Given the description of an element on the screen output the (x, y) to click on. 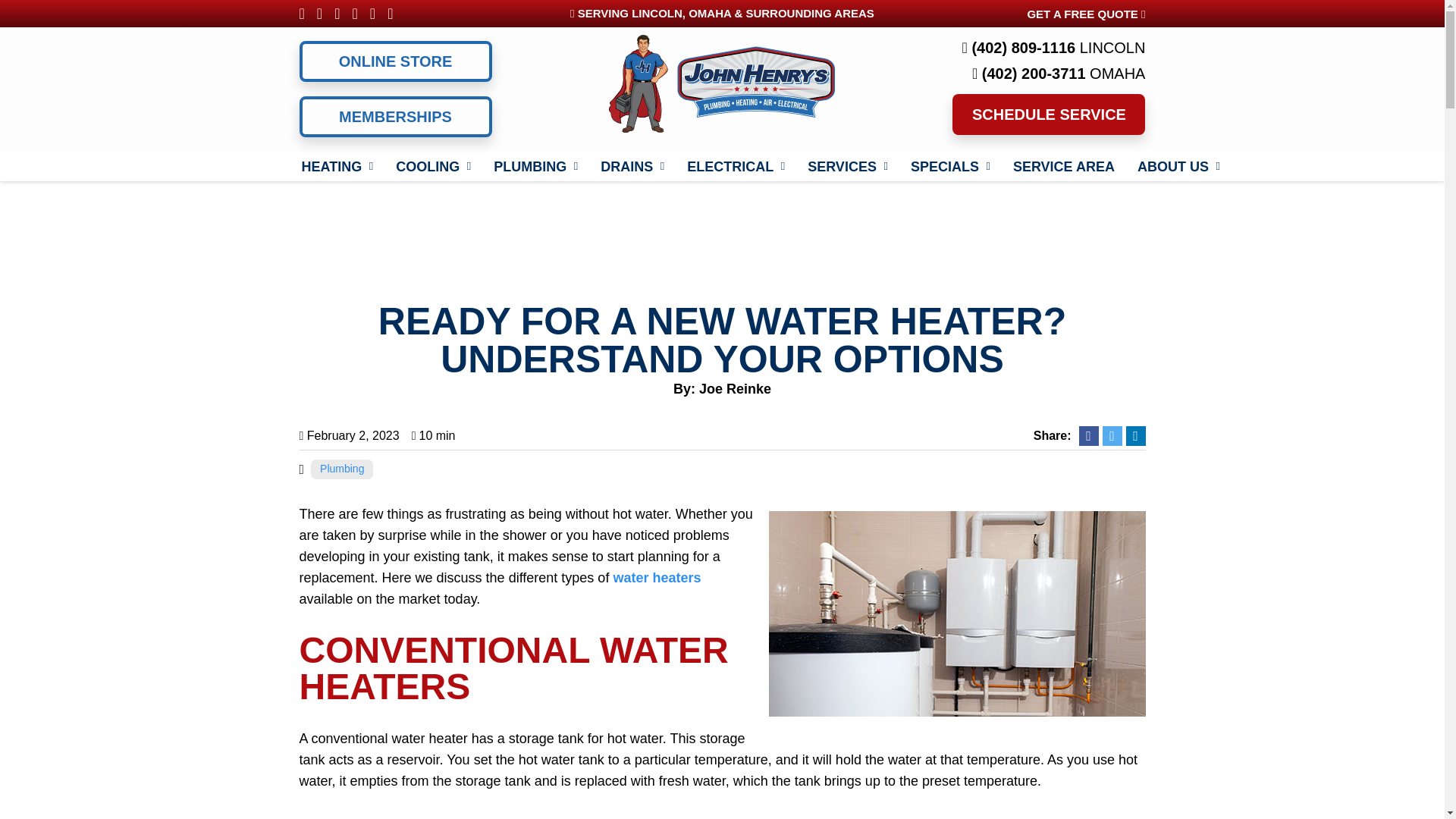
Ready for a New Water Heater? Understand Your Options (956, 612)
John Henry's Plumbing, Heating, Air, and Electrical (721, 82)
